Given the description of an element on the screen output the (x, y) to click on. 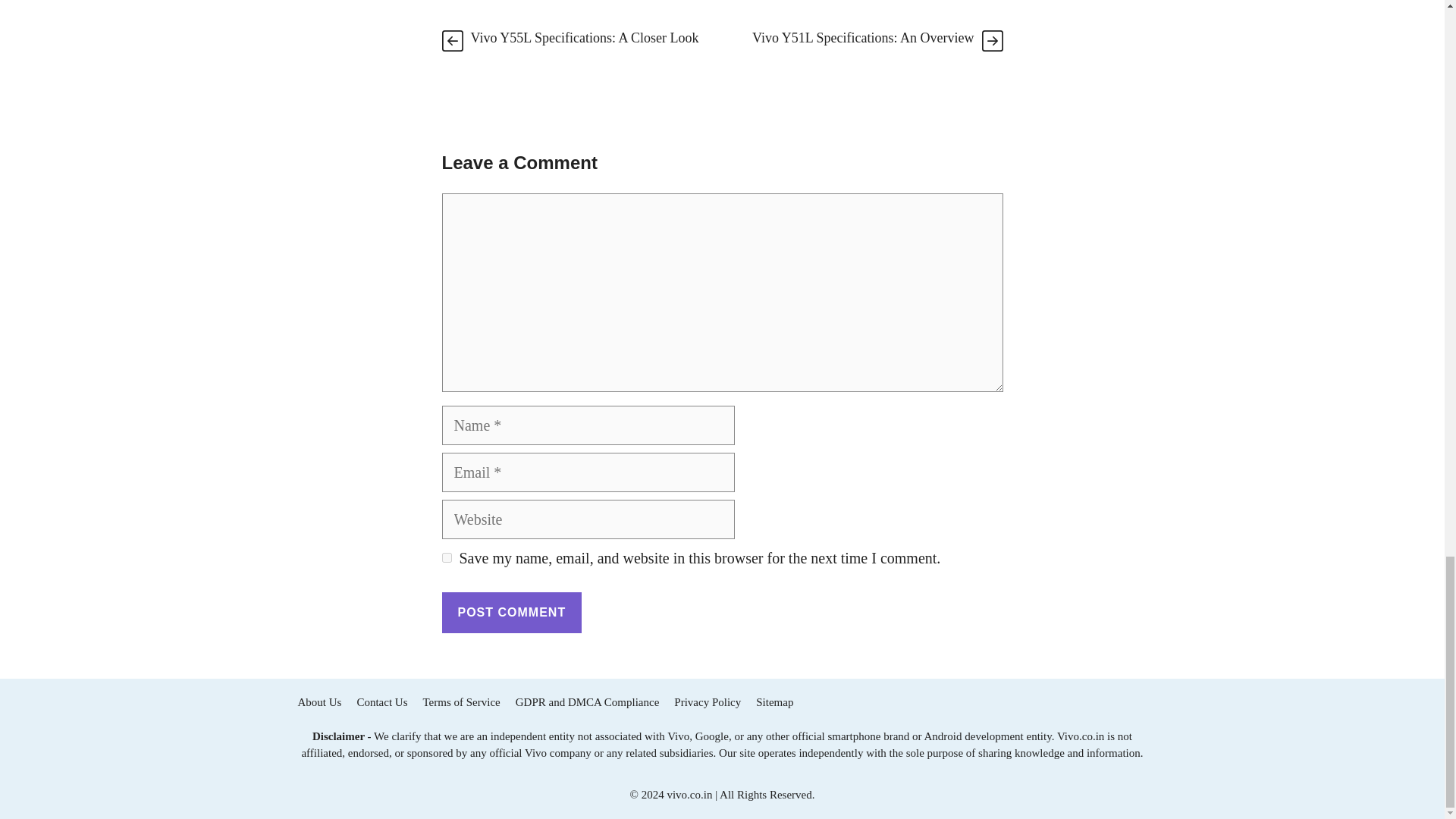
Contact Us (381, 702)
Vivo Y55L Specifications: A Closer Look (584, 37)
yes (446, 557)
Terms of Service (461, 702)
vivo.co.in (688, 794)
GDPR and DMCA Compliance (587, 702)
Privacy Policy (707, 702)
Vivo.co.in (1080, 736)
Post Comment (510, 612)
Vivo Y51L Specifications: An Overview (863, 37)
About Us (318, 702)
Post Comment (510, 612)
Sitemap (774, 702)
